Given the description of an element on the screen output the (x, y) to click on. 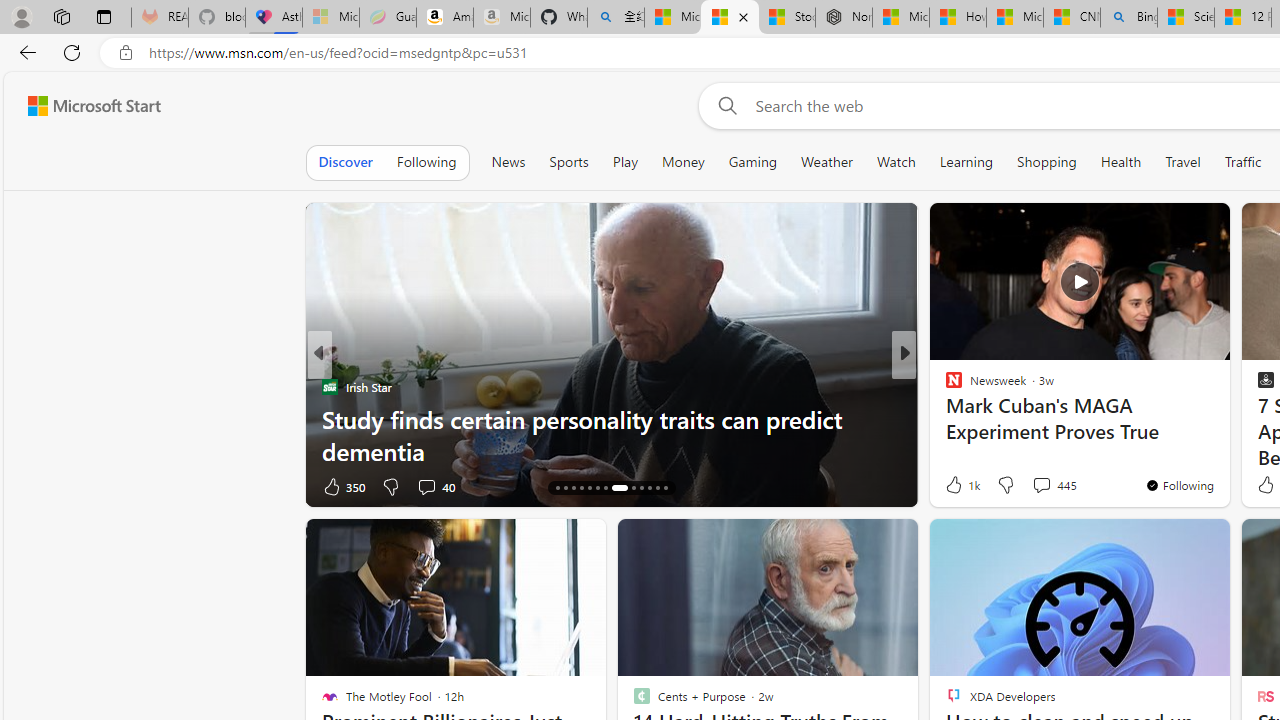
AutomationID: tab-24 (649, 487)
Bored Panda (944, 386)
The Motley Fool (944, 386)
You're following Newsweek (1179, 485)
AutomationID: tab-21 (619, 487)
AutomationID: tab-26 (664, 487)
AutomationID: tab-14 (556, 487)
